Given the description of an element on the screen output the (x, y) to click on. 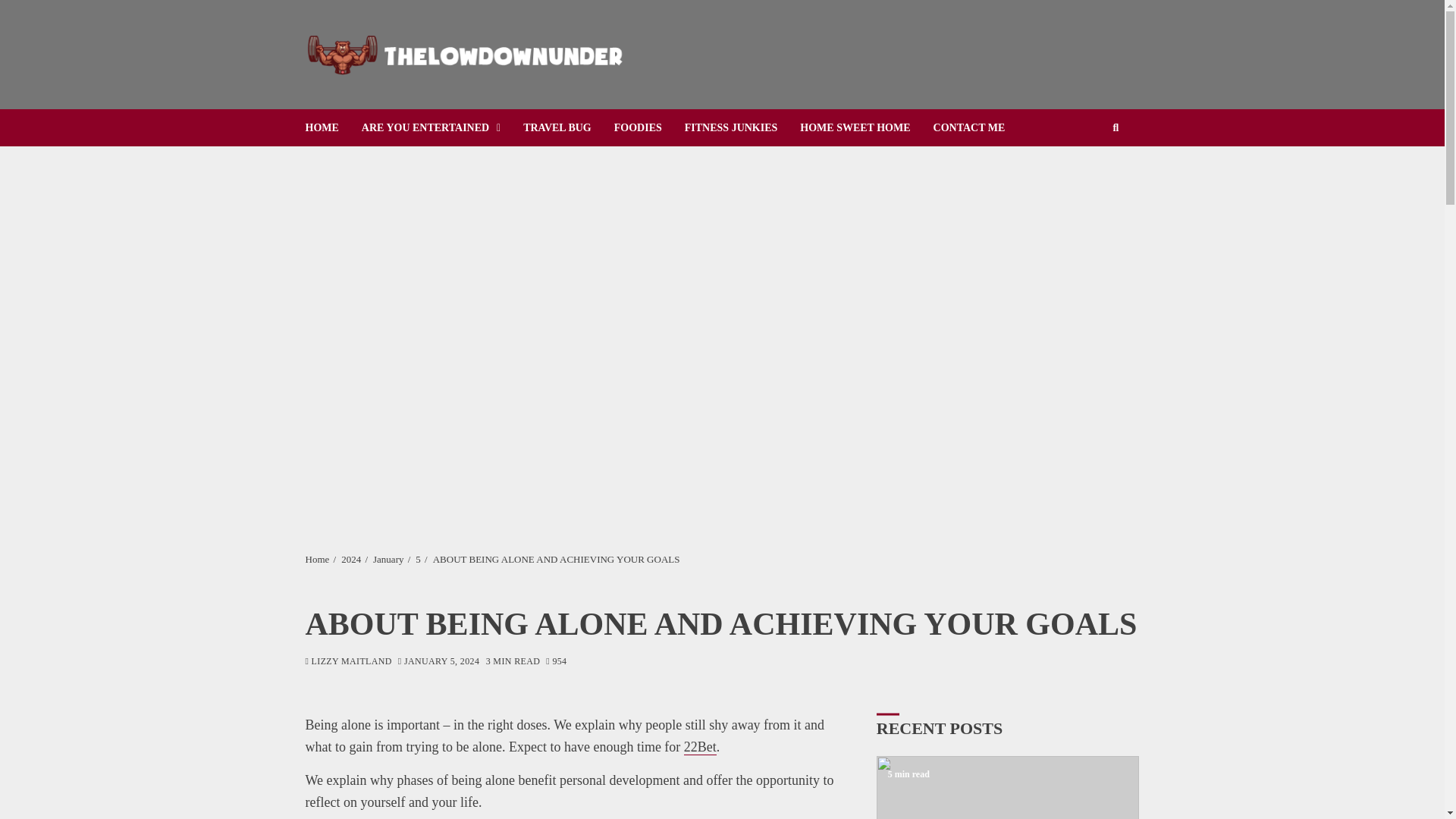
CONTACT ME (980, 127)
2024 (350, 559)
FITNESS JUNKIES (742, 127)
22Bet (700, 747)
Home (316, 559)
FOODIES (649, 127)
LIZZY MAITLAND (347, 662)
January (387, 559)
ARE YOU ENTERTAINED (441, 127)
HOME (332, 127)
ABOUT BEING ALONE AND ACHIEVING YOUR GOALS (555, 559)
954 (556, 662)
HOME SWEET HOME (866, 127)
Search (1092, 174)
